Given the description of an element on the screen output the (x, y) to click on. 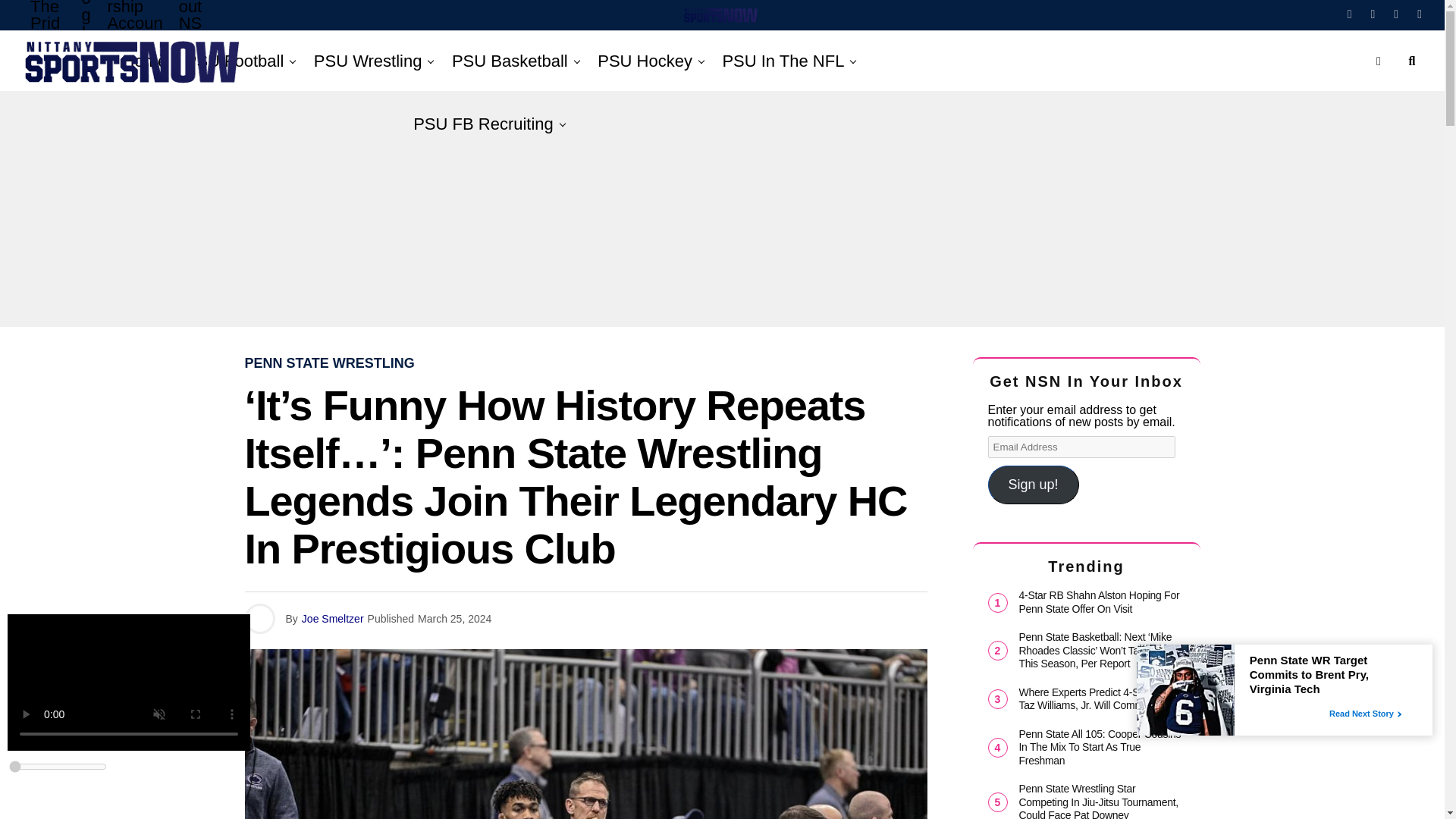
PSU Football (234, 61)
Home (144, 61)
Membership Account (134, 35)
PSU Wrestling (367, 61)
Posts by Joe Smeltzer (332, 618)
